Given the description of an element on the screen output the (x, y) to click on. 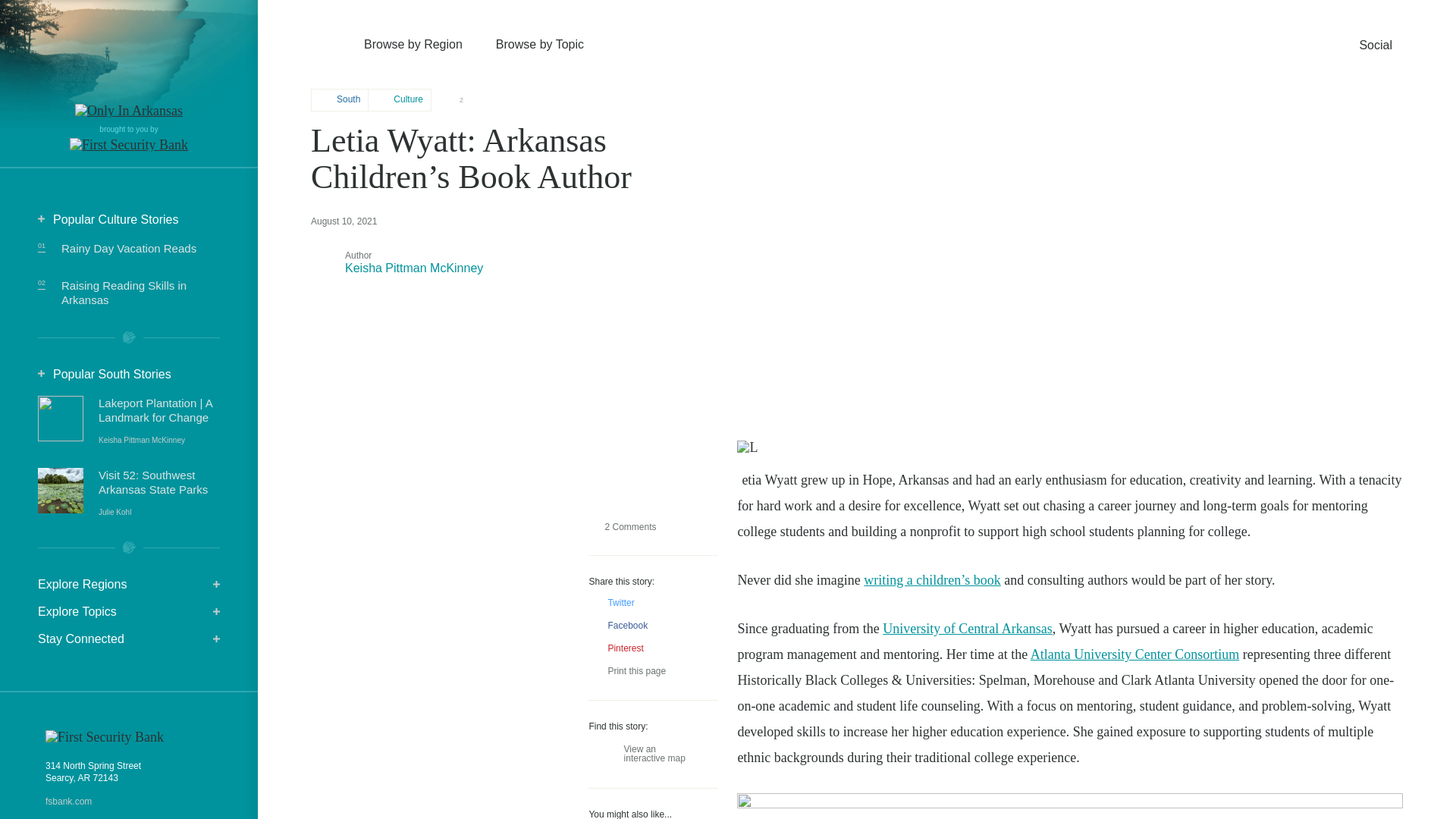
2 Comments (622, 526)
Keisha Pittman McKinney (141, 439)
Rainy Day Vacation Reads (128, 247)
Visit 52: Southwest Arkansas State Parks (159, 492)
fsbank.com (128, 801)
2 (454, 100)
Find it (1166, 104)
Raising Reading Skills in Arkansas (123, 292)
Julie Kohl (115, 511)
